Given the description of an element on the screen output the (x, y) to click on. 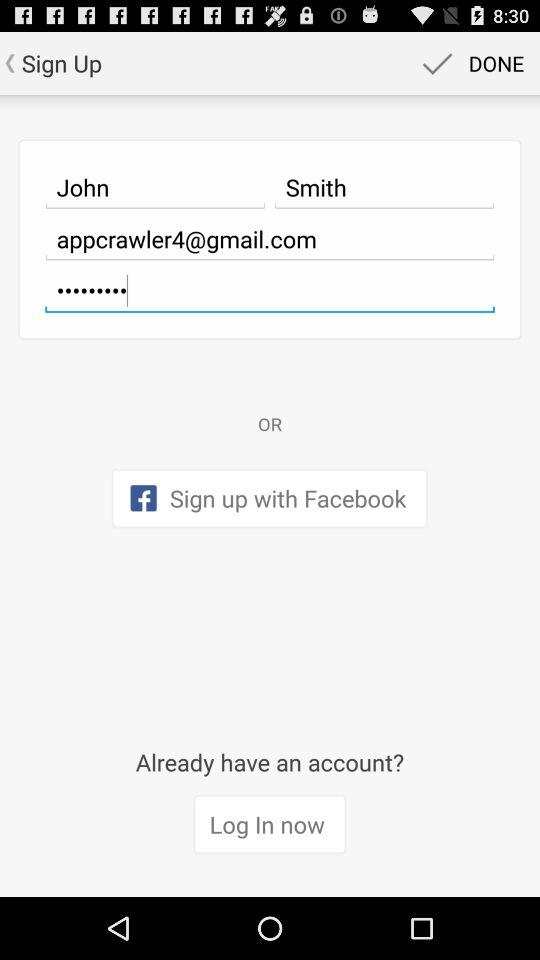
turn off the john icon (155, 187)
